Given the description of an element on the screen output the (x, y) to click on. 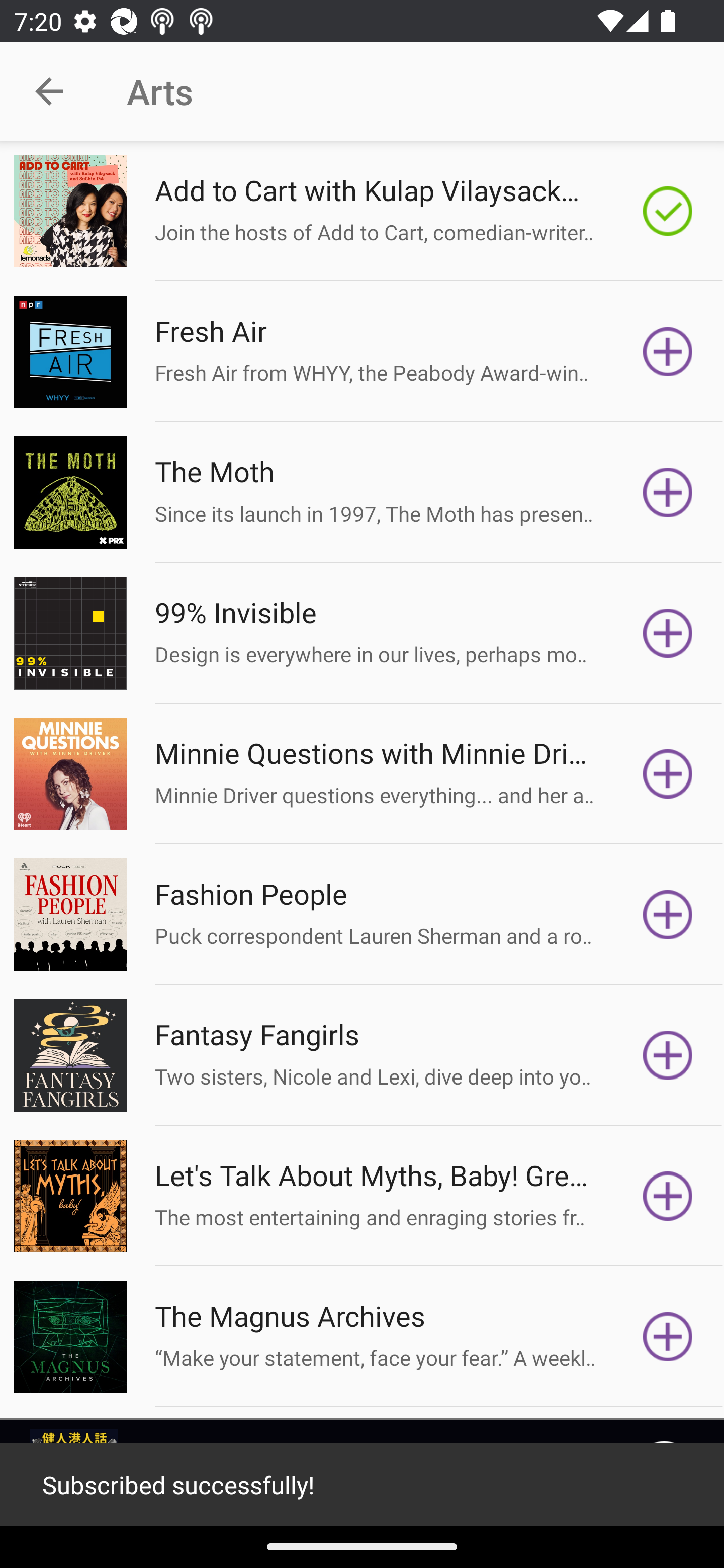
Navigate up (49, 91)
Subscribed (667, 211)
Subscribe (667, 350)
Subscribe (667, 491)
Subscribe (667, 633)
Subscribe (667, 773)
Subscribe (667, 913)
Subscribe (667, 1054)
Subscribe (667, 1195)
Subscribe (667, 1336)
Subscribed successfully! (362, 1484)
